Given the description of an element on the screen output the (x, y) to click on. 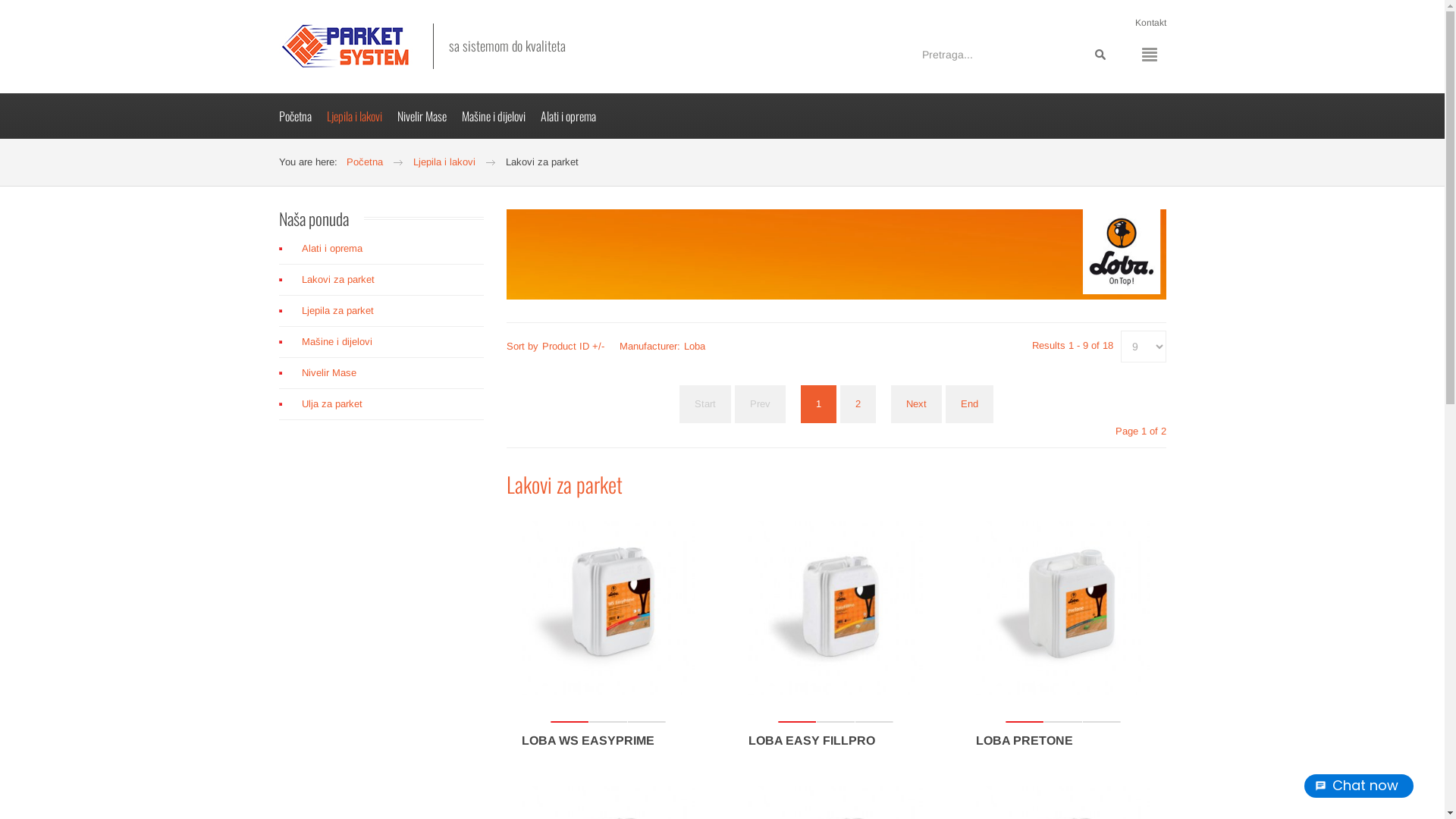
Sorry, we currently have no stock for this item Element type: hover (835, 721)
Ulja za parket Element type: text (381, 404)
Ljepila za parket Element type: text (381, 310)
2 Element type: text (857, 404)
LOBA PRETONE Element type: text (1024, 740)
End Element type: text (968, 404)
Lakovi za parket Element type: text (381, 279)
Ljepila i lakovi Element type: text (443, 161)
Sorry, we currently have no stock for this item Element type: hover (1062, 721)
Loba WS EasyPrime Element type: hover (608, 607)
Product ID +/- Element type: text (572, 345)
Nivelir Mase Element type: text (381, 373)
Kontakt Element type: text (1149, 22)
LOBA EASY FILLPRO Element type: text (811, 740)
Search Element type: text (1099, 54)
Alati i oprema Element type: text (381, 253)
Ljepila i lakovi Element type: text (361, 115)
Loba Easy FillPRo Element type: hover (835, 607)
LOBA WS EASYPRIME Element type: text (587, 740)
Alati i oprema Element type: text (574, 115)
Sorry, we currently have no stock for this item Element type: hover (607, 721)
Loba PreTone Element type: hover (1062, 607)
Next Element type: text (915, 404)
Nivelir Mase Element type: text (429, 115)
